Given the description of an element on the screen output the (x, y) to click on. 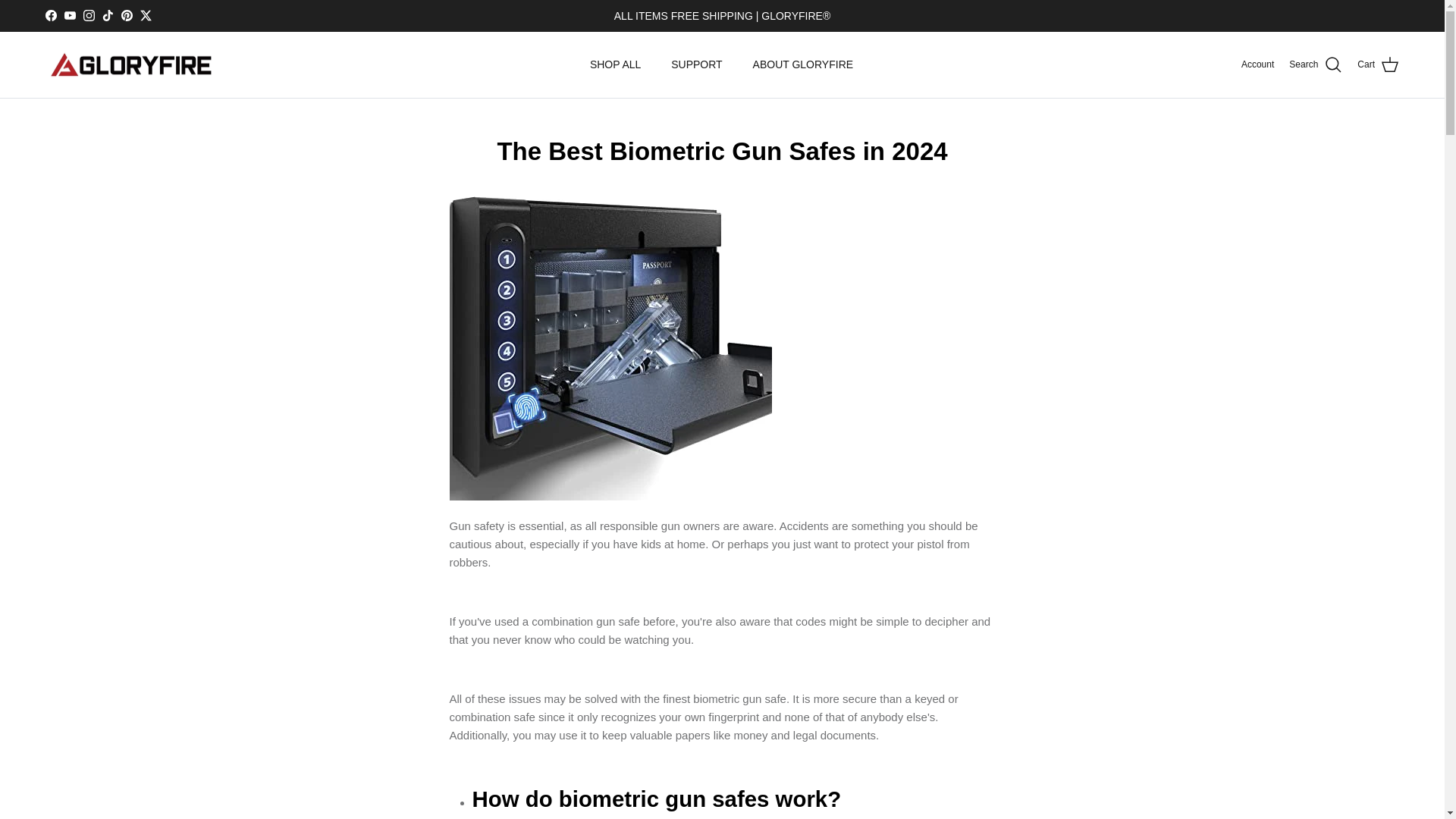
Search (1315, 65)
YouTube (69, 15)
Facebook (50, 15)
Cart (1377, 65)
Pinterest (126, 15)
TikTok (107, 15)
Instagram (88, 15)
Twitter (145, 15)
Account (1257, 64)
ABOUT GLORYFIRE (803, 64)
SHOP ALL (614, 64)
SUPPORT (696, 64)
